Given the description of an element on the screen output the (x, y) to click on. 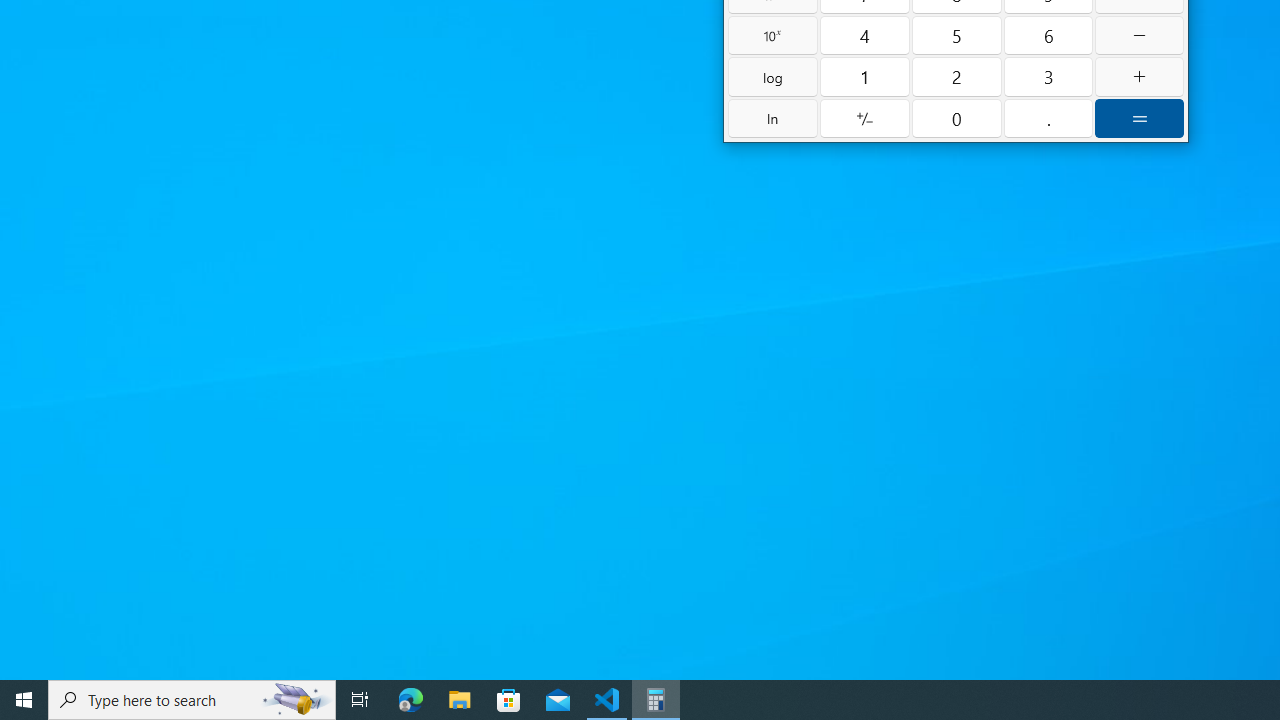
Calculator - 1 running window (656, 699)
Plus (1139, 76)
Five (956, 34)
Natural log (772, 118)
Equals (1139, 118)
Three (1048, 76)
Two (956, 76)
Six (1048, 34)
One (865, 76)
Minus (1139, 34)
